Given the description of an element on the screen output the (x, y) to click on. 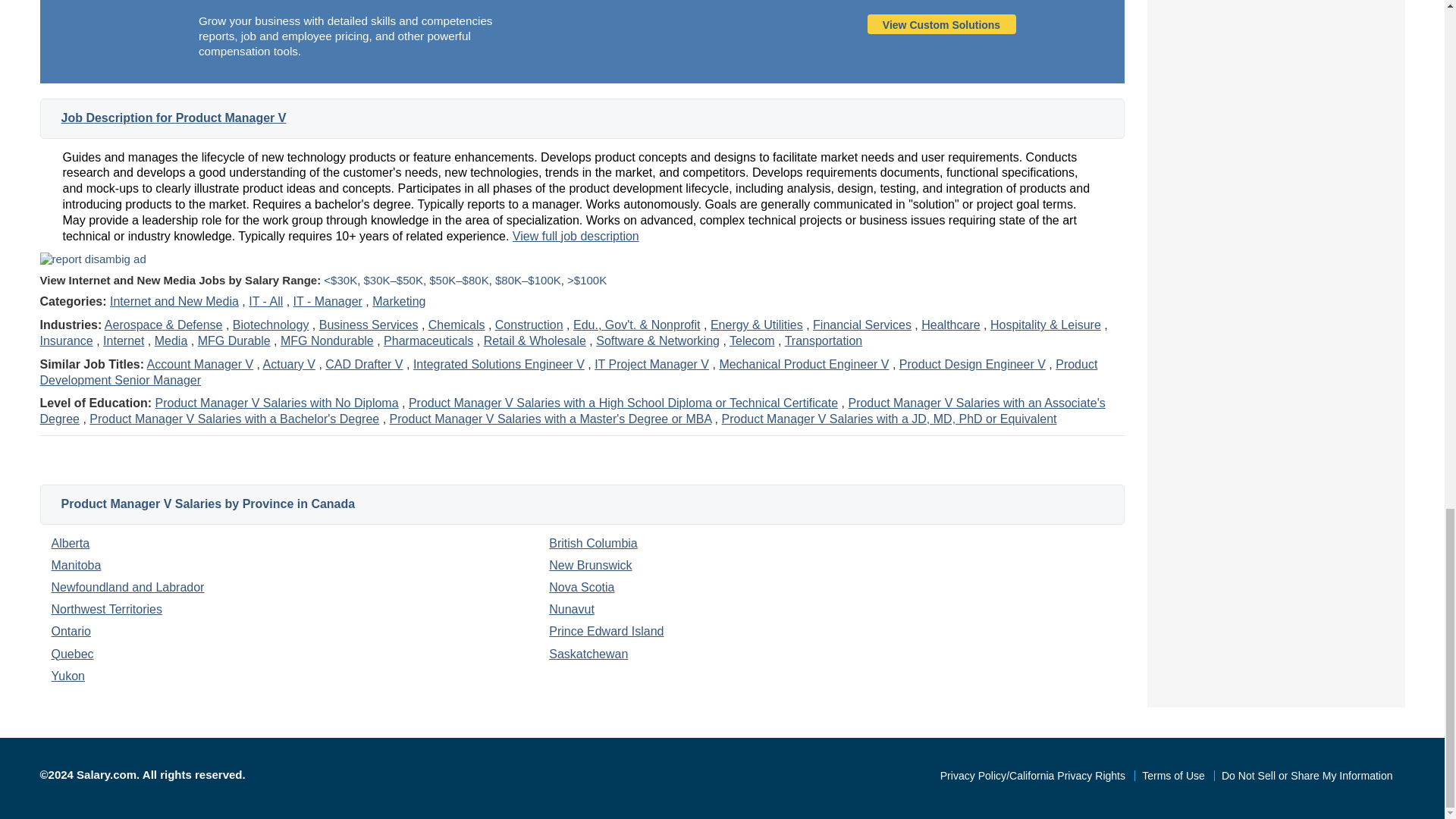
Job Description for Product Manager V (173, 117)
View full job description (575, 236)
View Custom Solutions (941, 23)
